Given the description of an element on the screen output the (x, y) to click on. 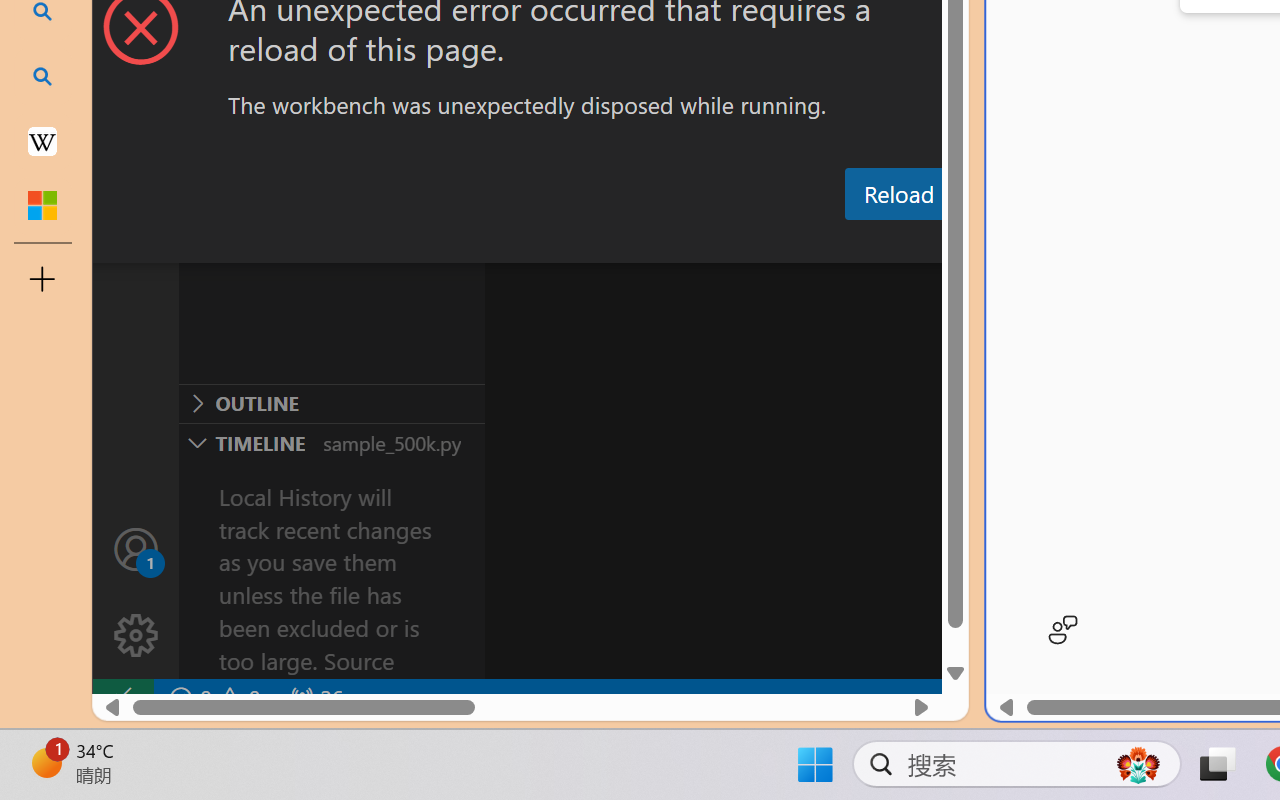
Manage (135, 591)
Accounts - Sign in requested (135, 548)
Debug Console (Ctrl+Shift+Y) (854, 243)
Reload (898, 193)
Timeline Section (331, 442)
remote (122, 698)
Outline Section (331, 403)
